Given the description of an element on the screen output the (x, y) to click on. 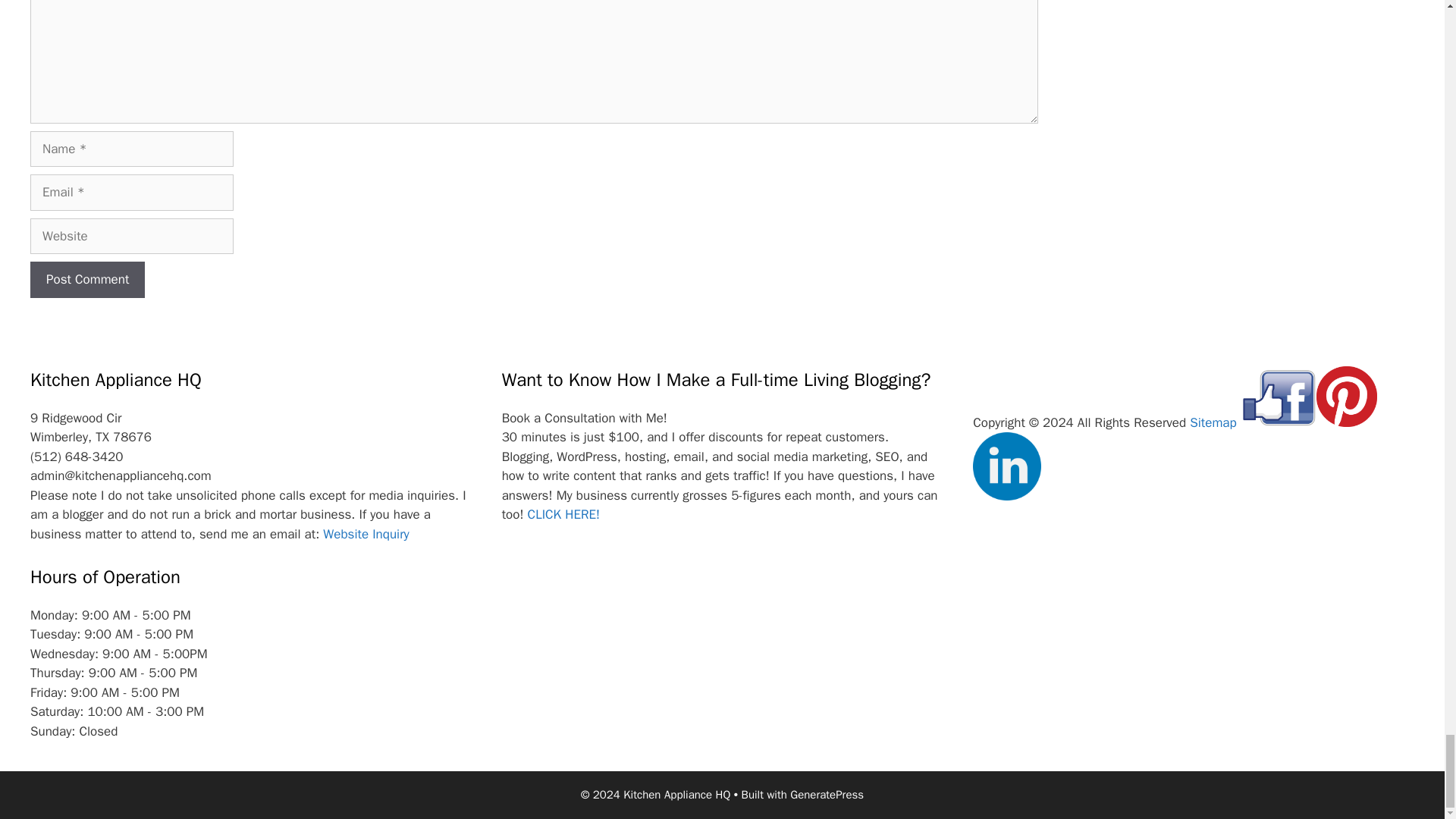
Post Comment (87, 279)
